Given the description of an element on the screen output the (x, y) to click on. 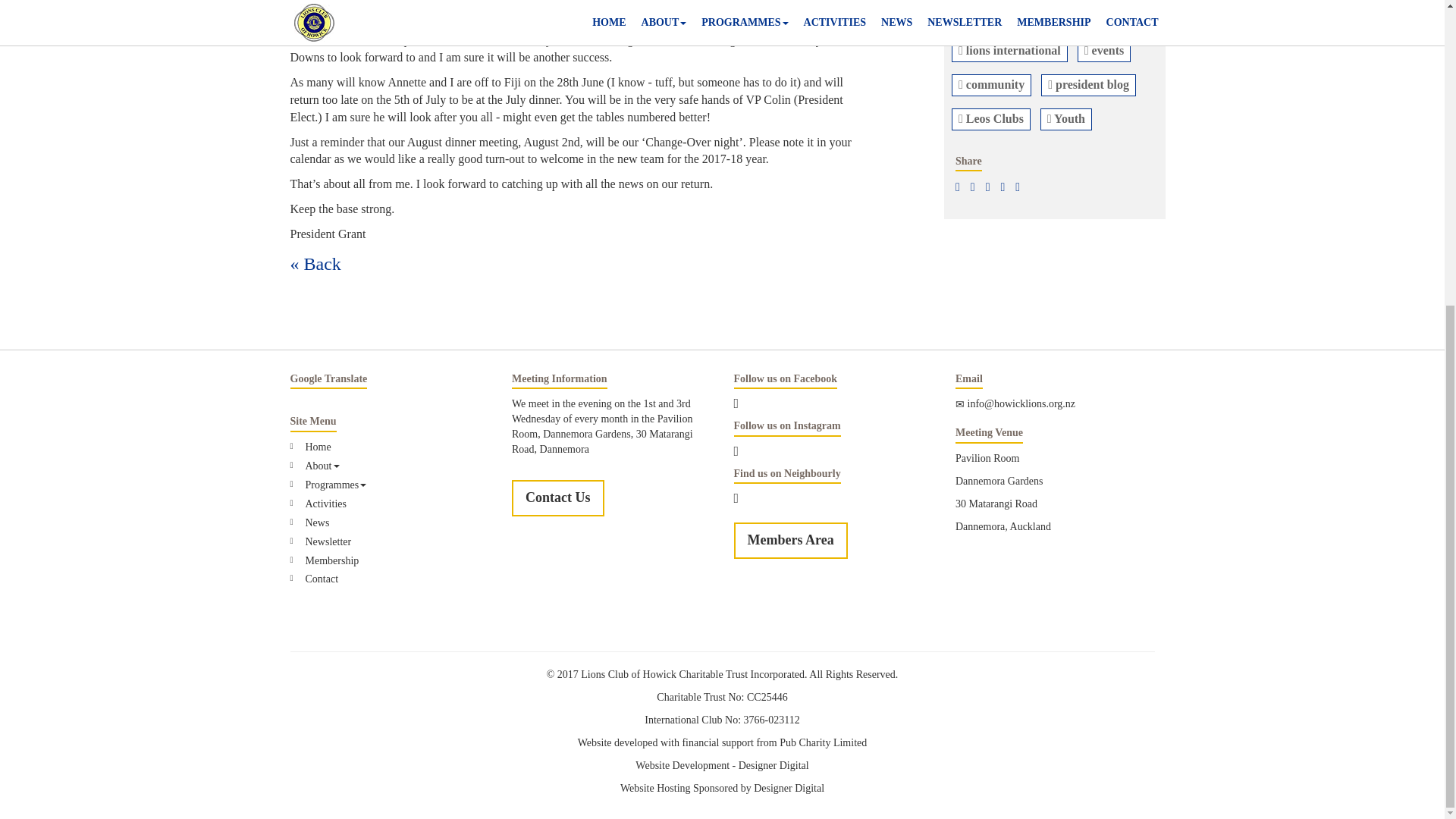
 video (978, 15)
 events (1106, 49)
 membership (1055, 15)
 community (993, 83)
 lions international (1011, 49)
